Given the description of an element on the screen output the (x, y) to click on. 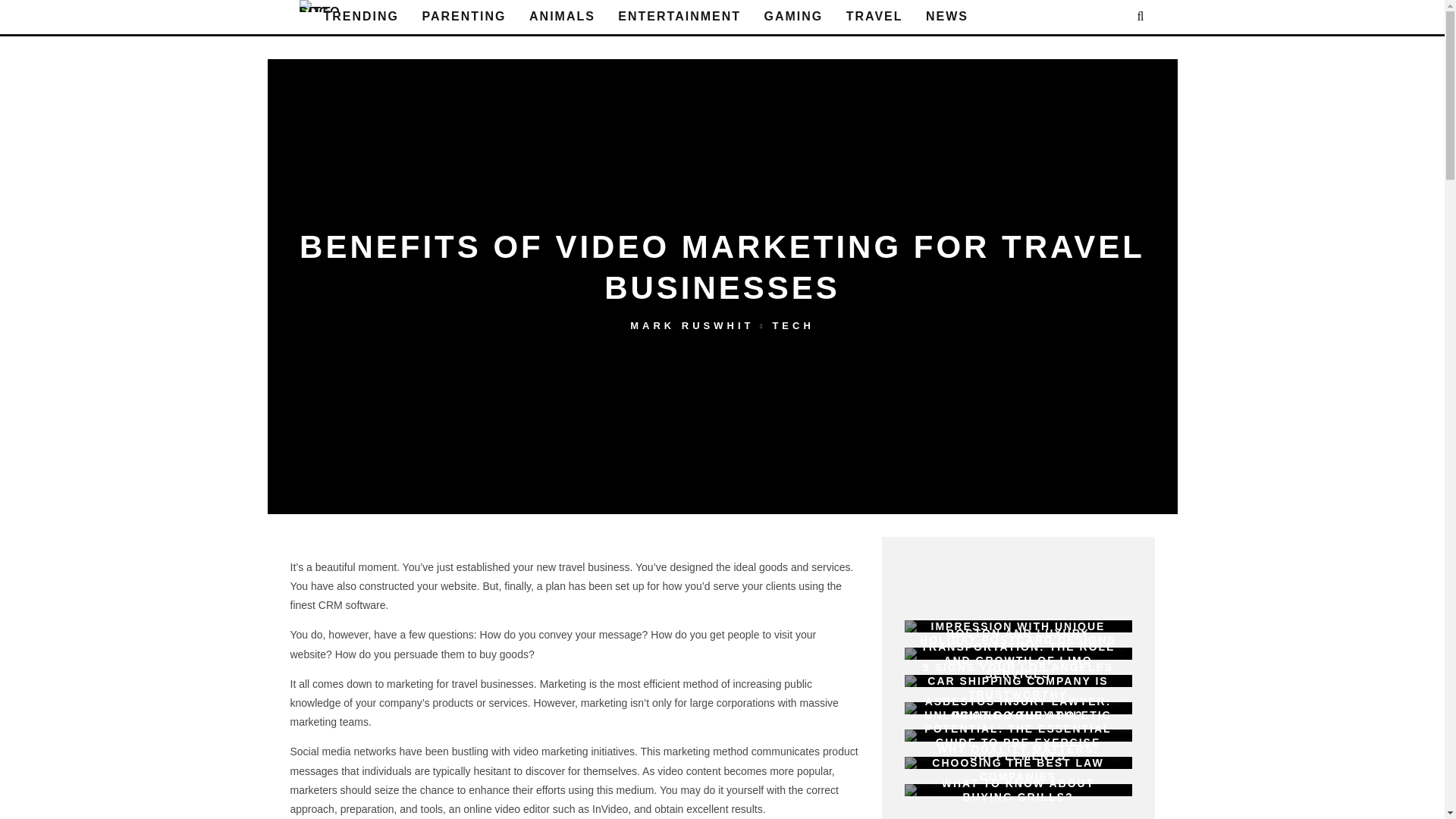
ANIMALS (561, 17)
TECH (792, 325)
ENTERTAINMENT (678, 17)
TRAVEL (874, 17)
GAMING (793, 17)
Log In (721, 409)
NEWS (946, 17)
Why Quality Matters: Choosing the Best Law Companies (1017, 762)
TRENDING (360, 17)
PARENTING (464, 17)
Asbestos Injury Lawyer: What Do They Do? (1012, 707)
5 Signs Your Los Angeles Car Shipping Company Is Trustworthy (1017, 680)
View all posts in Tech (792, 325)
MARK RUSWHIT (692, 326)
